Given the description of an element on the screen output the (x, y) to click on. 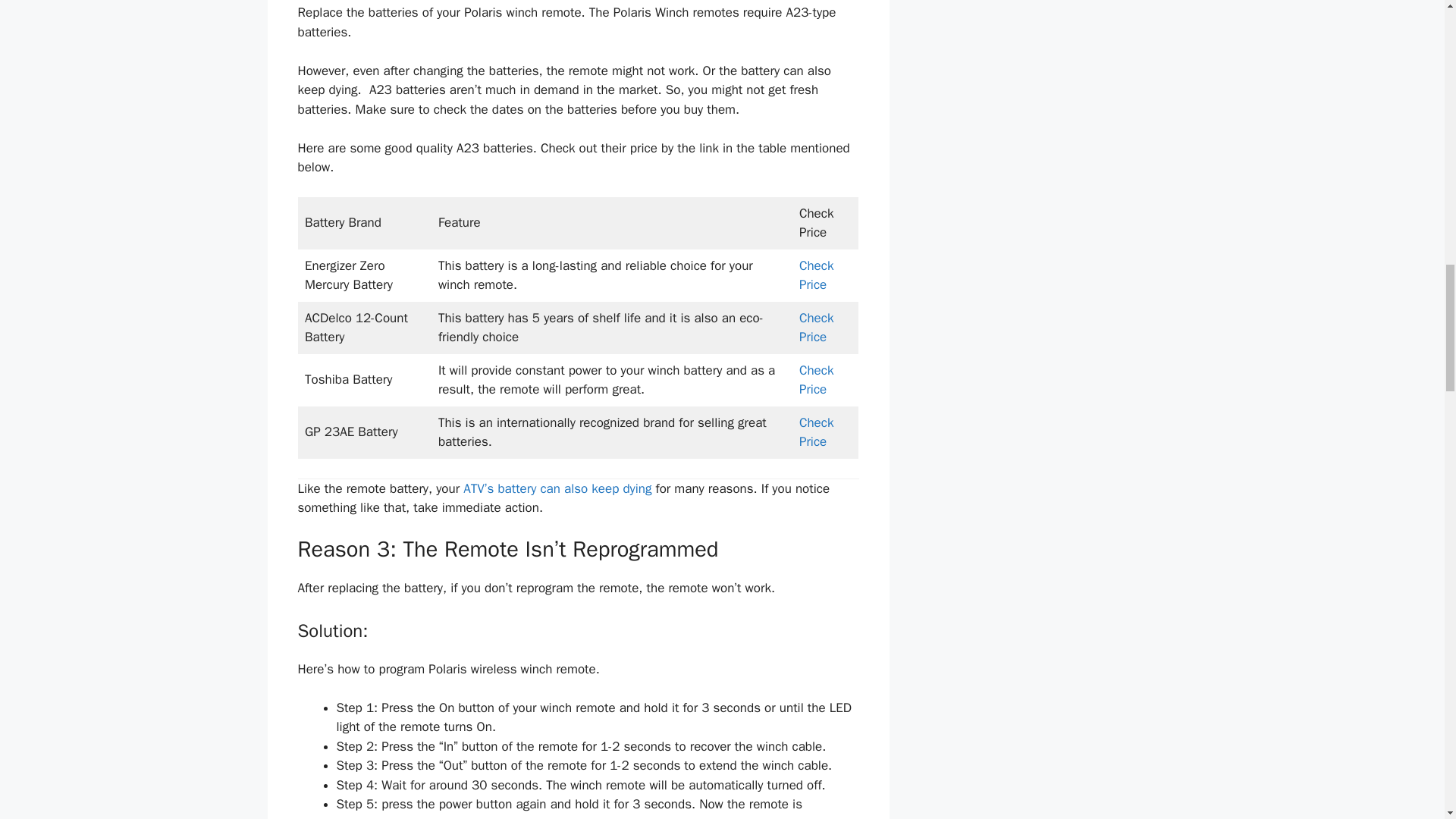
Check Price (816, 432)
Check Price (816, 380)
Check Price (816, 275)
Check Price (816, 327)
